Given the description of an element on the screen output the (x, y) to click on. 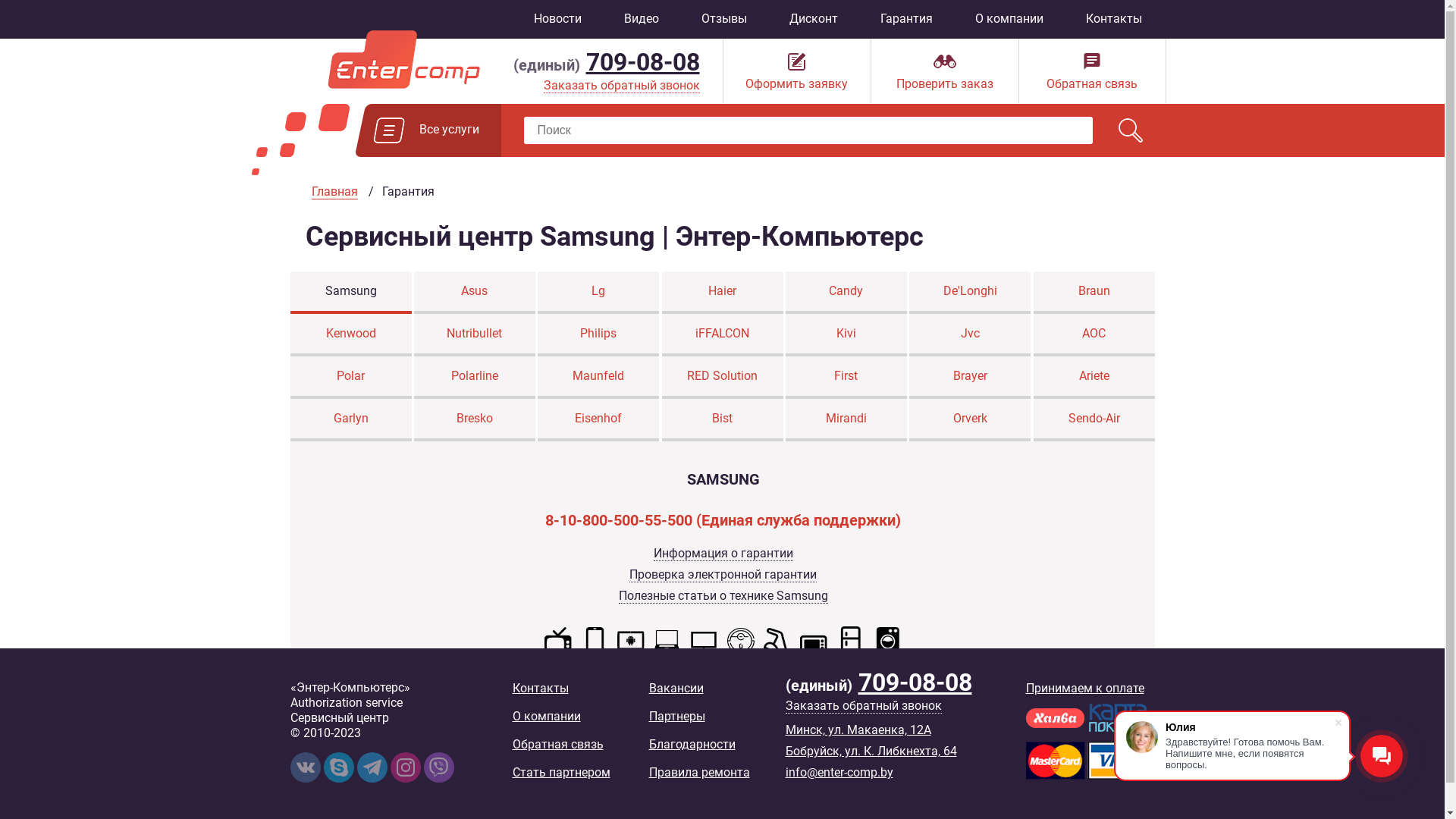
Polarline Element type: text (474, 375)
709-08-08 Element type: text (915, 682)
Lg Element type: text (597, 290)
Sendo-Air Element type: text (1093, 418)
Mirandi Element type: text (845, 418)
AOC Element type: text (1093, 333)
iFFALCON Element type: text (722, 333)
RED Solution Element type: text (722, 375)
First Element type: text (845, 375)
Orverk Element type: text (969, 418)
Braun Element type: text (1093, 290)
Kivi Element type: text (845, 333)
Polar Element type: text (350, 375)
De'Longhi Element type: text (969, 290)
Nutribullet Element type: text (474, 333)
Bresko Element type: text (474, 418)
Maunfeld Element type: text (597, 375)
Garlyn Element type: text (350, 418)
Bist Element type: text (722, 418)
info@enter-comp.by Element type: text (839, 772)
Kenwood Element type: text (350, 333)
SAMSUNG Element type: text (723, 479)
Asus Element type: text (474, 290)
Samsung Element type: text (350, 290)
Ariete Element type: text (1093, 375)
Haier Element type: text (722, 290)
Philips Element type: text (597, 333)
Candy Element type: text (845, 290)
Brayer Element type: text (969, 375)
709-08-08 Element type: text (642, 61)
Jvc Element type: text (969, 333)
Eisenhof Element type: text (597, 418)
